Given the description of an element on the screen output the (x, y) to click on. 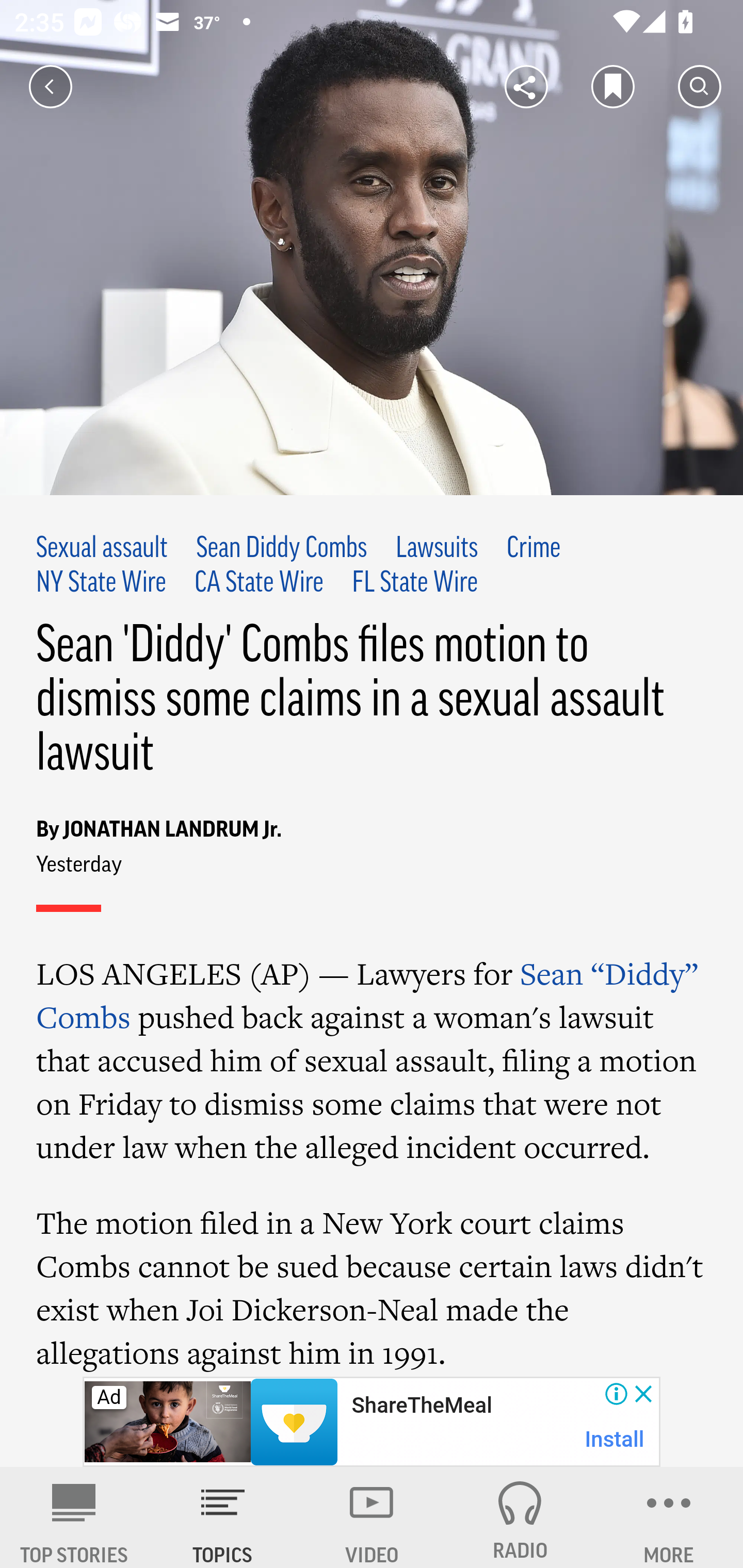
Sexual assault (102, 549)
Sean Diddy Combs (281, 549)
Lawsuits (435, 549)
Crime (533, 549)
NY State Wire (101, 584)
CA State Wire (259, 584)
FL State Wire (414, 584)
Sean “Diddy” Combs (367, 994)
ShareTheMeal (420, 1405)
Install (614, 1438)
AP News TOP STORIES (74, 1517)
TOPICS (222, 1517)
VIDEO (371, 1517)
RADIO (519, 1517)
MORE (668, 1517)
